Given the description of an element on the screen output the (x, y) to click on. 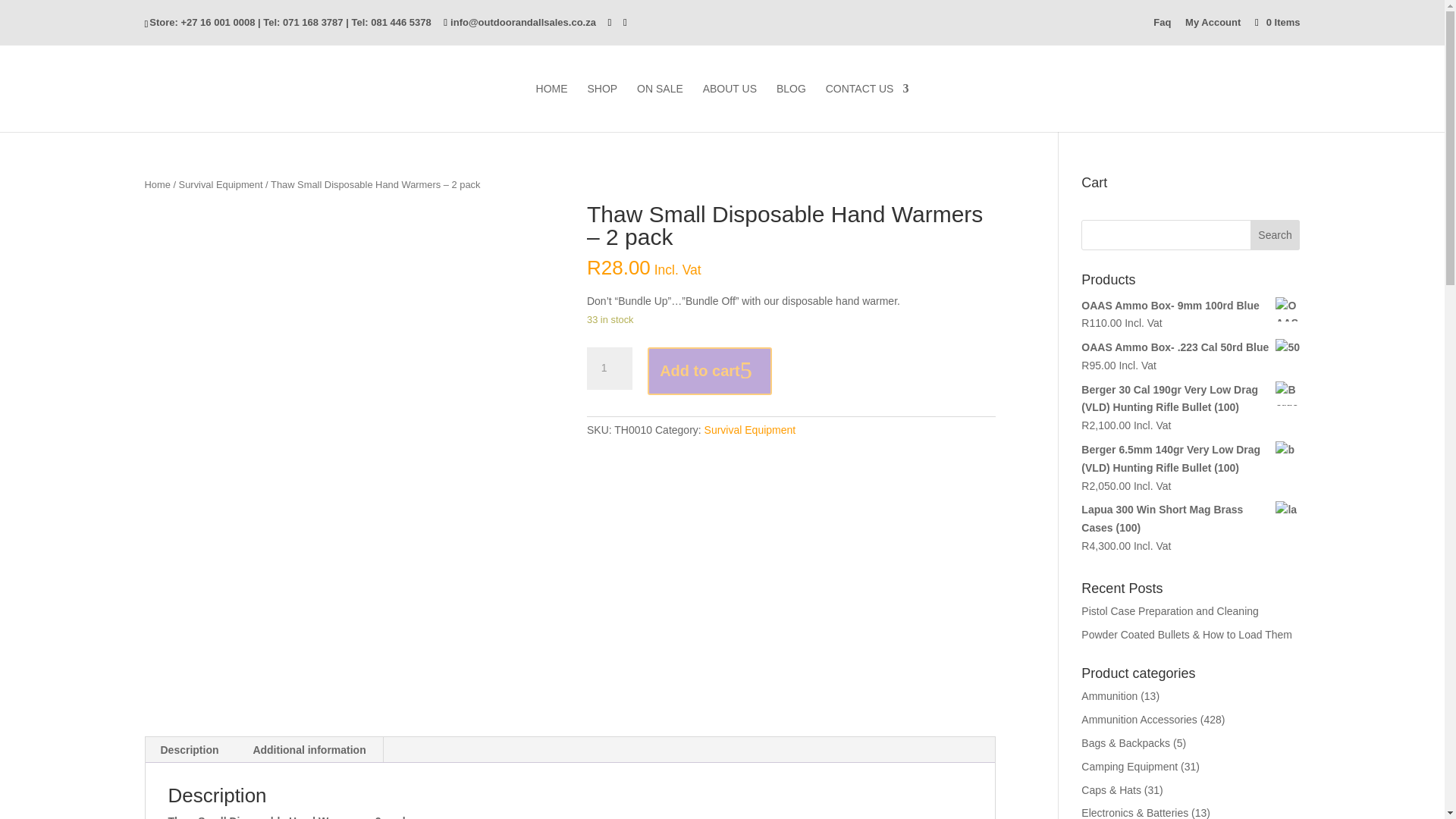
Outdoor and All Sales Office Store Number (201, 21)
ABOUT US (730, 107)
Survival Equipment (750, 429)
1 (608, 368)
My Account (1212, 26)
Additional information (308, 749)
CONTACT US (866, 107)
Description (189, 749)
Tel: 081 446 5378 (390, 21)
0 Items (1276, 21)
